Given the description of an element on the screen output the (x, y) to click on. 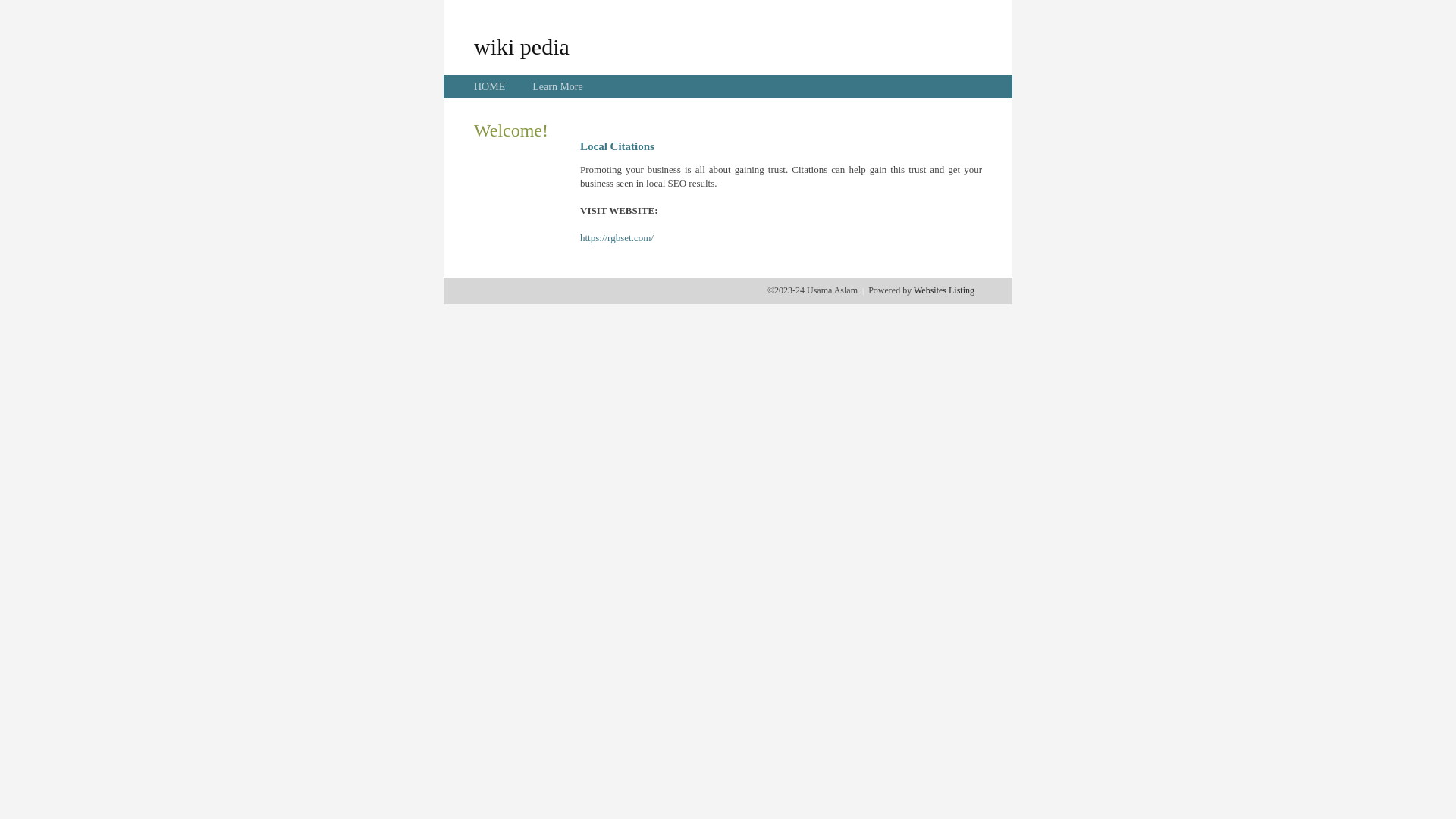
Websites Listing Element type: text (943, 290)
wiki pedia Element type: text (521, 46)
HOME Element type: text (489, 86)
Learn More Element type: text (557, 86)
https://rgbset.com/ Element type: text (616, 237)
